Given the description of an element on the screen output the (x, y) to click on. 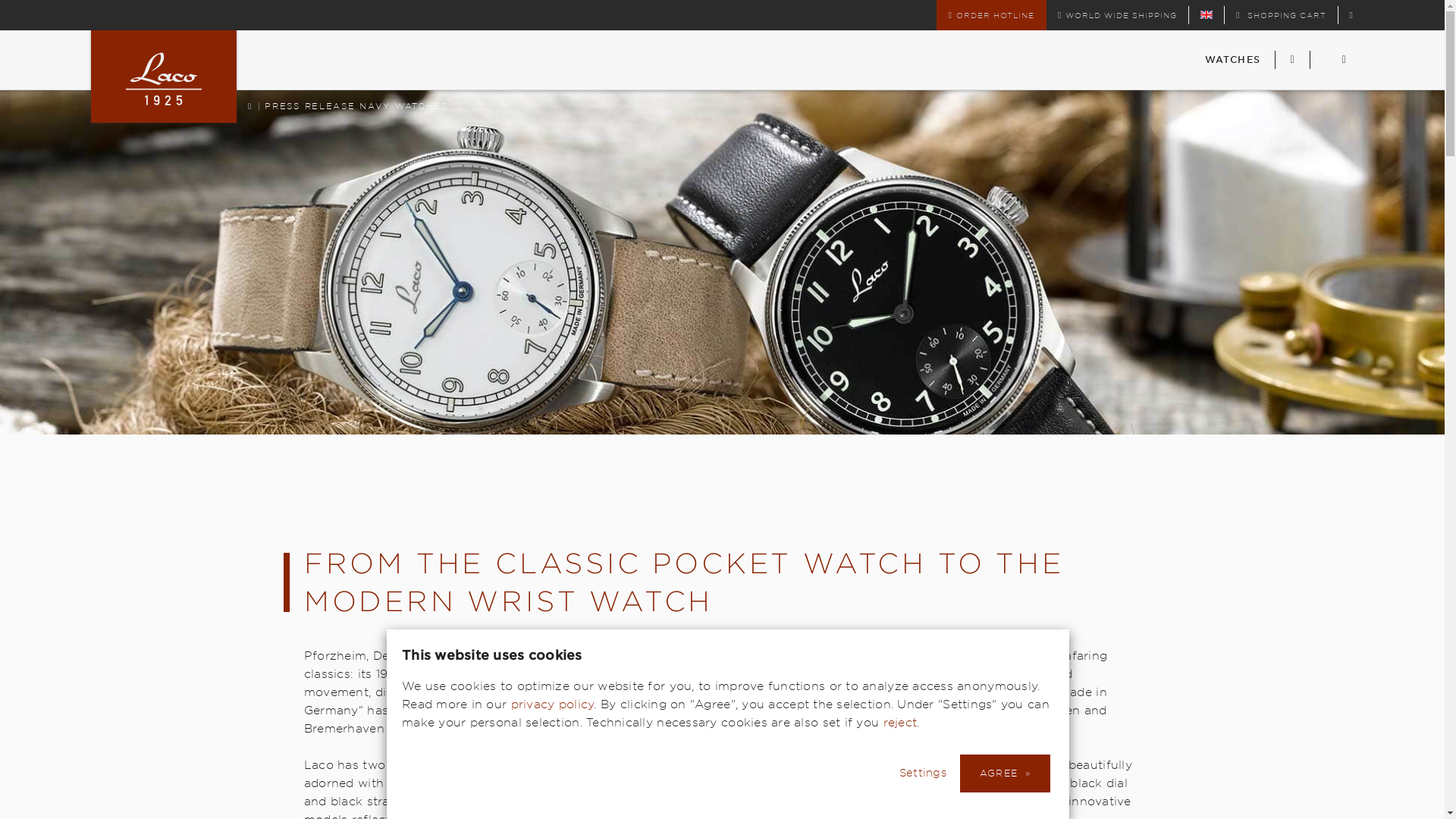
Languages: English (1206, 14)
Account (1351, 15)
reject (900, 722)
Settings (1206, 14)
Suche (929, 772)
Press release navy watches (1292, 59)
Main page (351, 106)
WORLD WIDE SHIPPING (249, 105)
AGREE (1120, 14)
SHOPPING CART (1004, 773)
privacy policy (1280, 15)
